Given the description of an element on the screen output the (x, y) to click on. 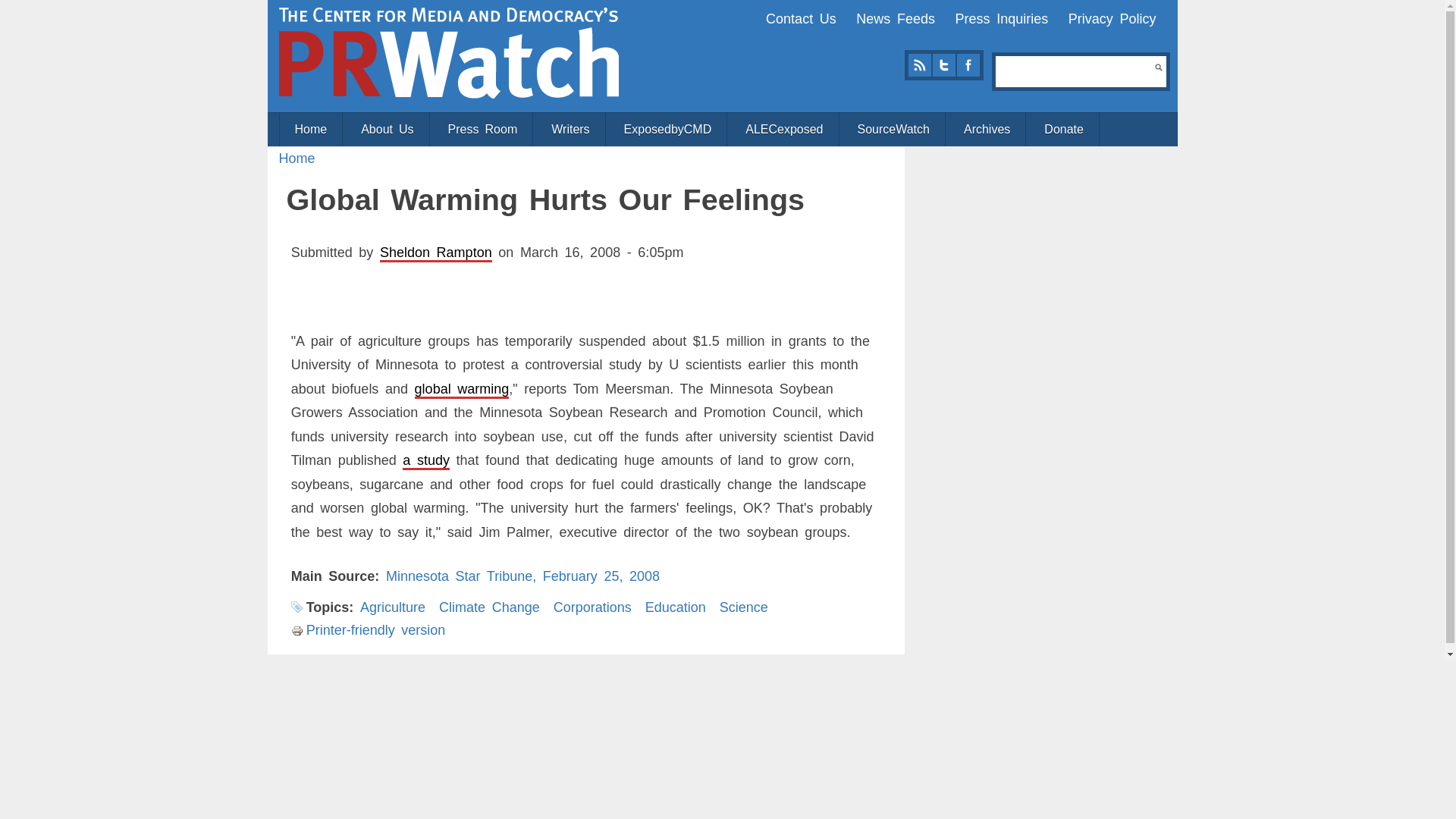
Press Inquiries (1001, 18)
Subscribe to CMD's RSS Feeds (919, 64)
Climate Change (489, 607)
Join CMD's Facebook Page (967, 64)
Home (311, 129)
Corporations (592, 607)
Contact Us (800, 18)
Search (1157, 67)
Enter the terms you wish to search for. (1074, 71)
Facebook (967, 64)
